Given the description of an element on the screen output the (x, y) to click on. 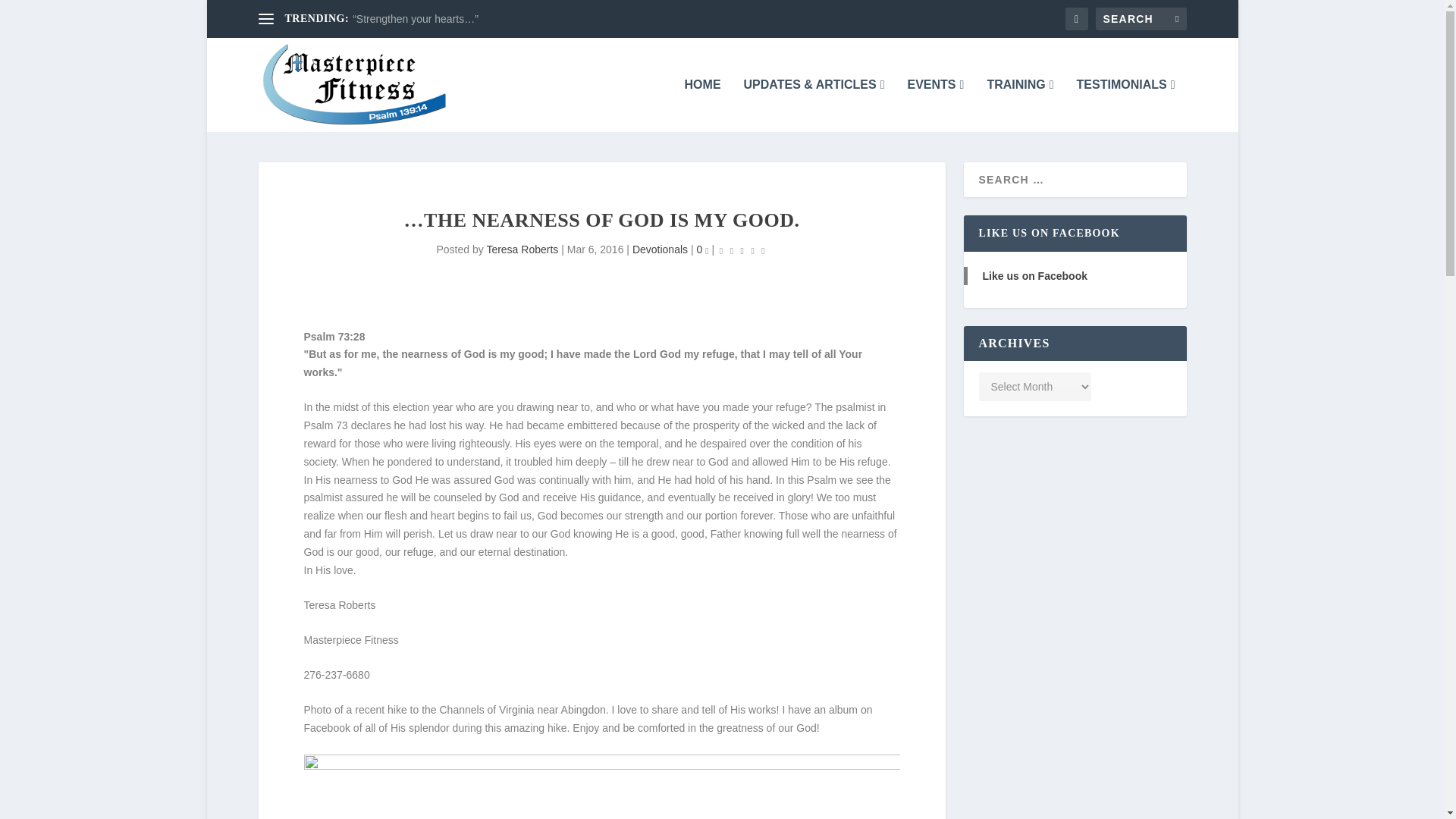
EVENTS (935, 104)
HOME (702, 104)
Teresa Roberts (521, 249)
Rating: 0.00 (742, 250)
comment count (705, 251)
Posts by Teresa Roberts (521, 249)
Devotionals (659, 249)
